Given the description of an element on the screen output the (x, y) to click on. 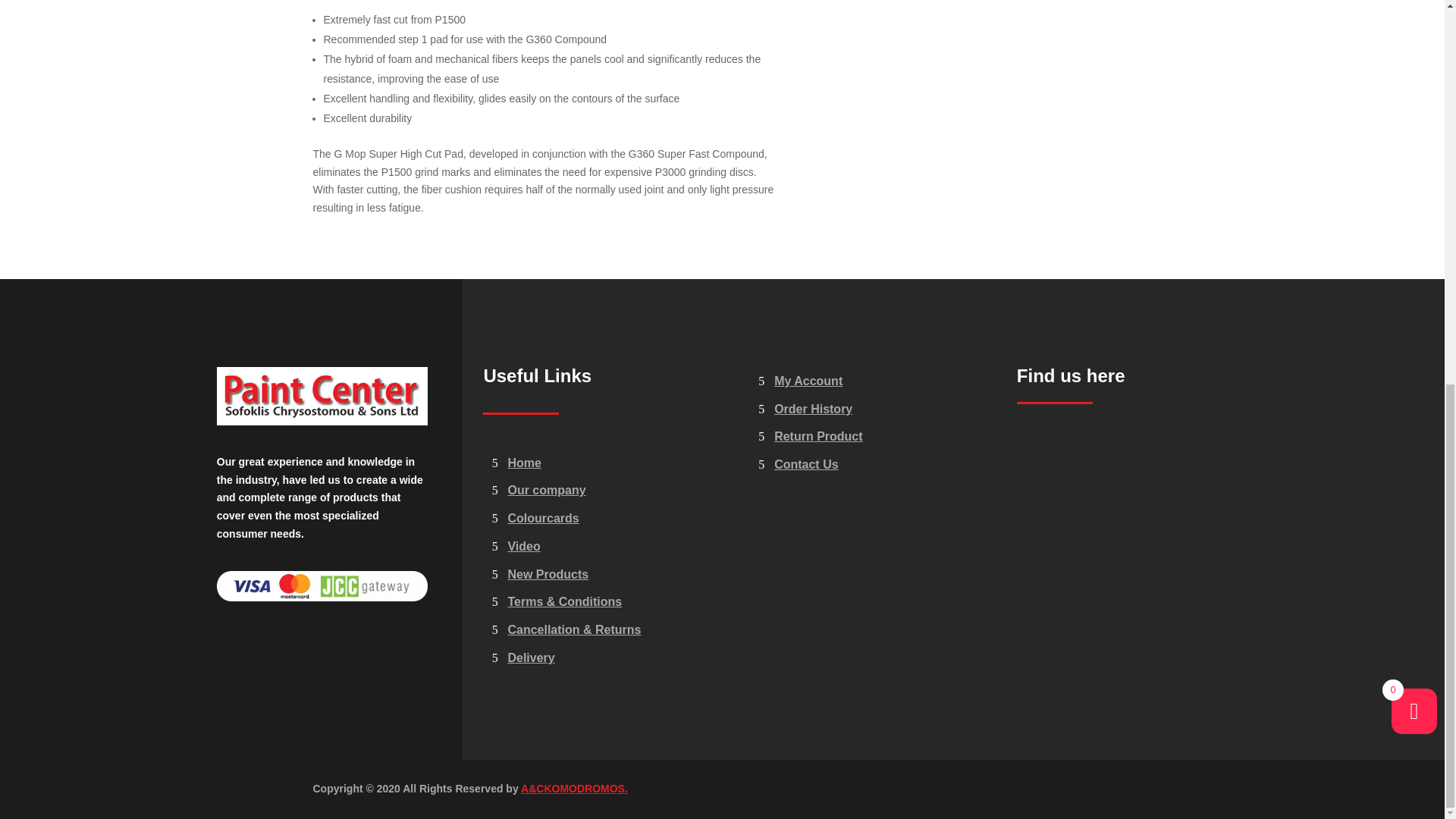
Logo500 (322, 395)
Jcc (322, 585)
